Given the description of an element on the screen output the (x, y) to click on. 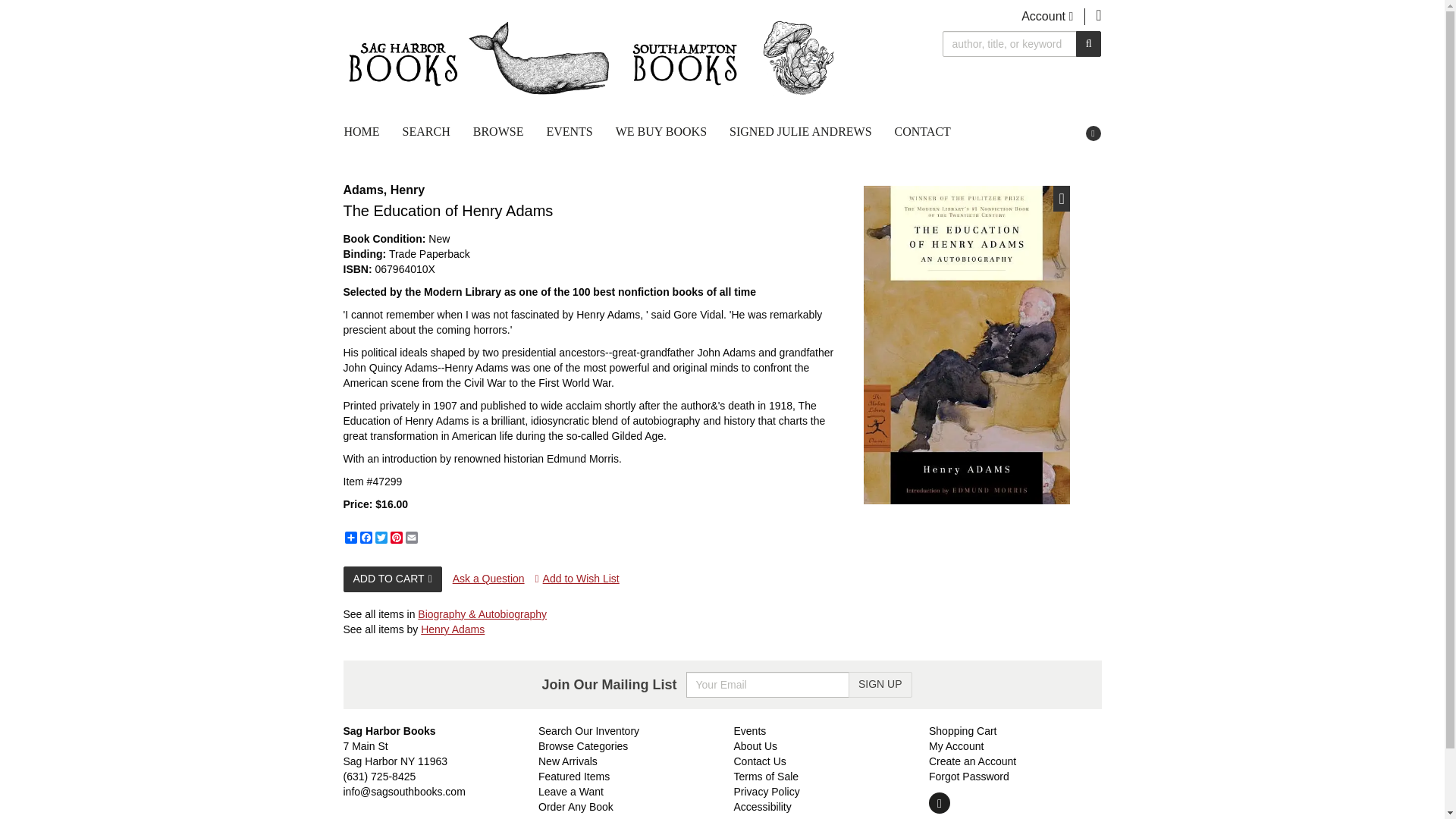
CONTACT (922, 132)
Pinterest (395, 537)
BROWSE (498, 132)
ADD TO CART (391, 579)
Twitter (380, 537)
SEARCH (426, 132)
SUBMIT SEARCH (1088, 43)
Add to Wish List (576, 579)
Facebook (365, 537)
Account (1047, 16)
Henry Adams (452, 629)
HOME (367, 132)
FOLLOW ON INSTAGRAM (1093, 133)
Sag Harbor Books (591, 57)
SIGNED JULIE ANDREWS (800, 132)
